Given the description of an element on the screen output the (x, y) to click on. 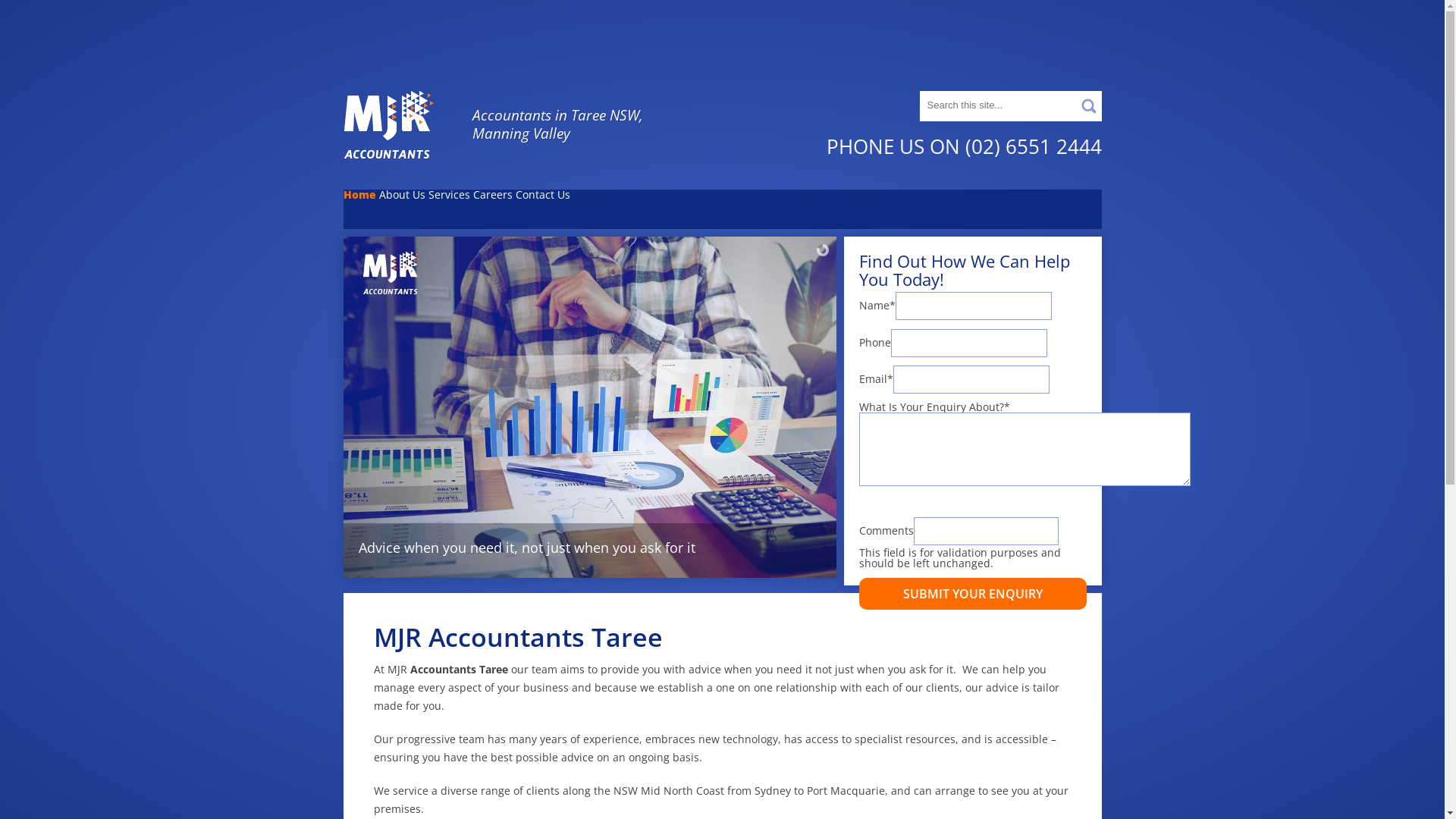
About Us Element type: text (402, 208)
Submit Your Enquiry Element type: text (971, 593)
Contact Us Element type: text (542, 208)
Home Element type: text (358, 208)
Services Element type: text (448, 208)
PHONE US ON (02) 6551 2444 Element type: text (963, 146)
Careers Element type: text (492, 208)
